Given the description of an element on the screen output the (x, y) to click on. 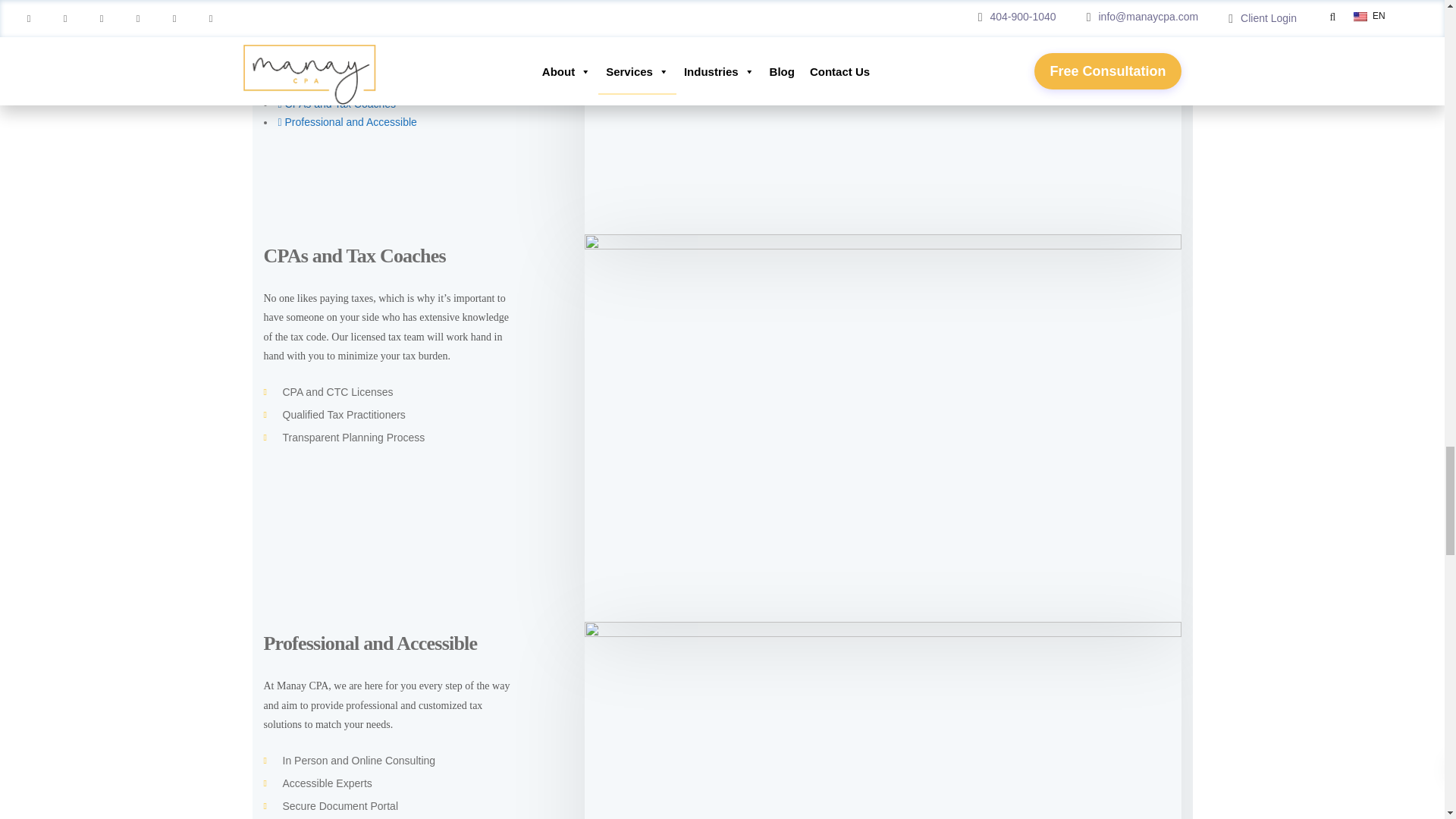
Kurumsal ve erisilebilir (882, 720)
